Given the description of an element on the screen output the (x, y) to click on. 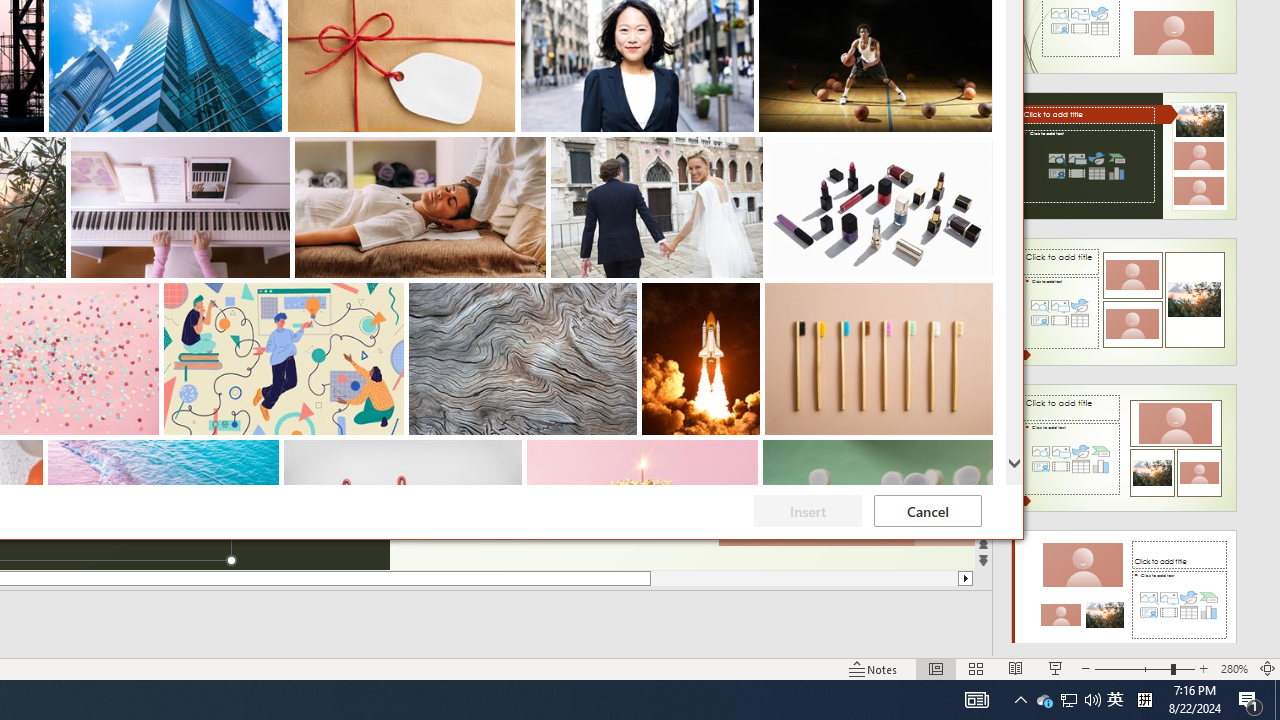
Thumbnail (977, 454)
AutomationID: 4105 (976, 699)
Notification Chevron (1020, 699)
Zoom 280% (1044, 699)
User Promoted Notification Area (1234, 668)
Action Center, 1 new notification (1068, 699)
